Given the description of an element on the screen output the (x, y) to click on. 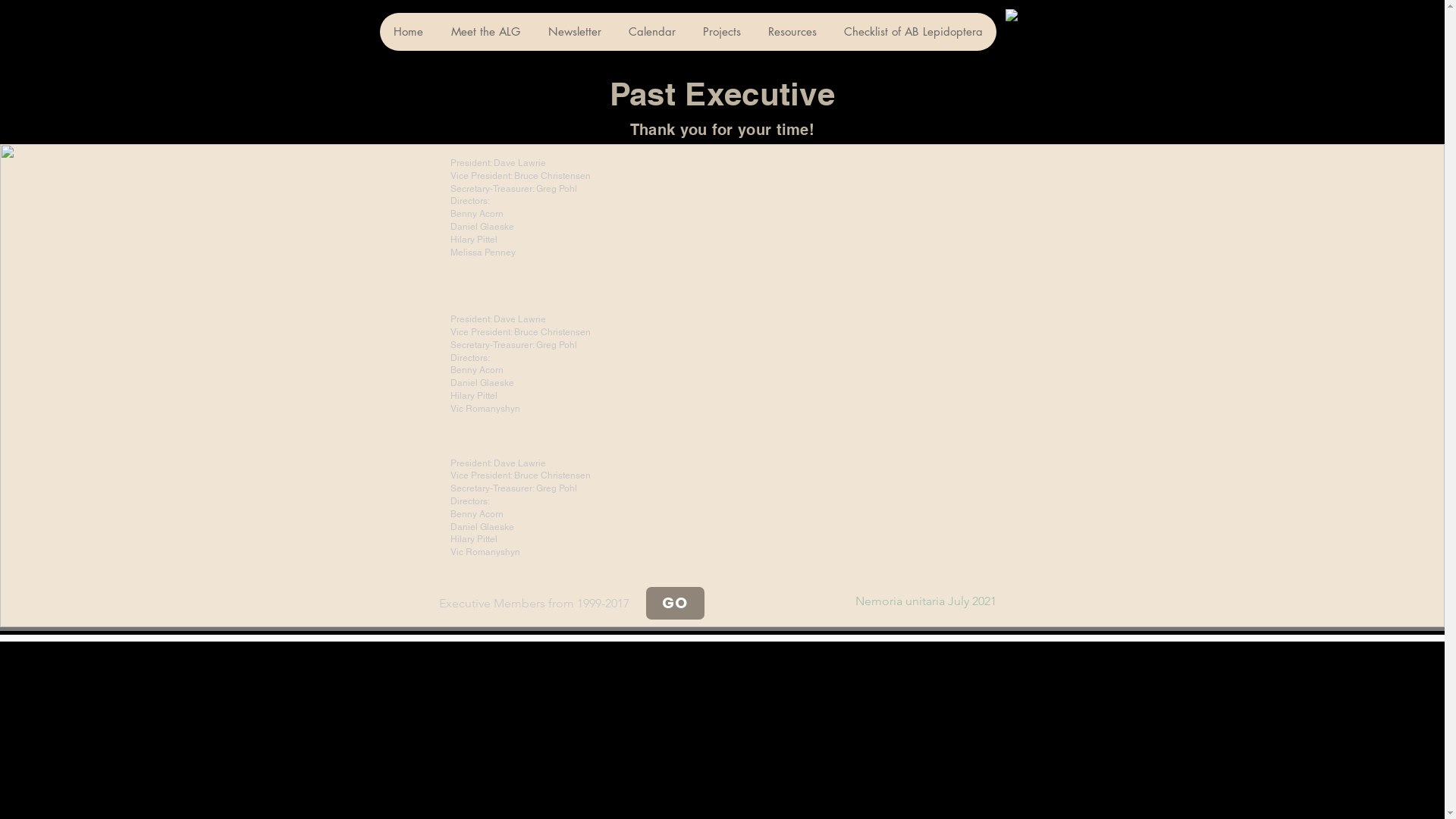
Home Element type: text (407, 31)
Calendar Element type: text (651, 31)
GO Element type: text (675, 602)
Meet the ALG Element type: text (484, 31)
Checklist of AB Lepidoptera Element type: text (912, 31)
Newsletter Element type: text (574, 31)
